Given the description of an element on the screen output the (x, y) to click on. 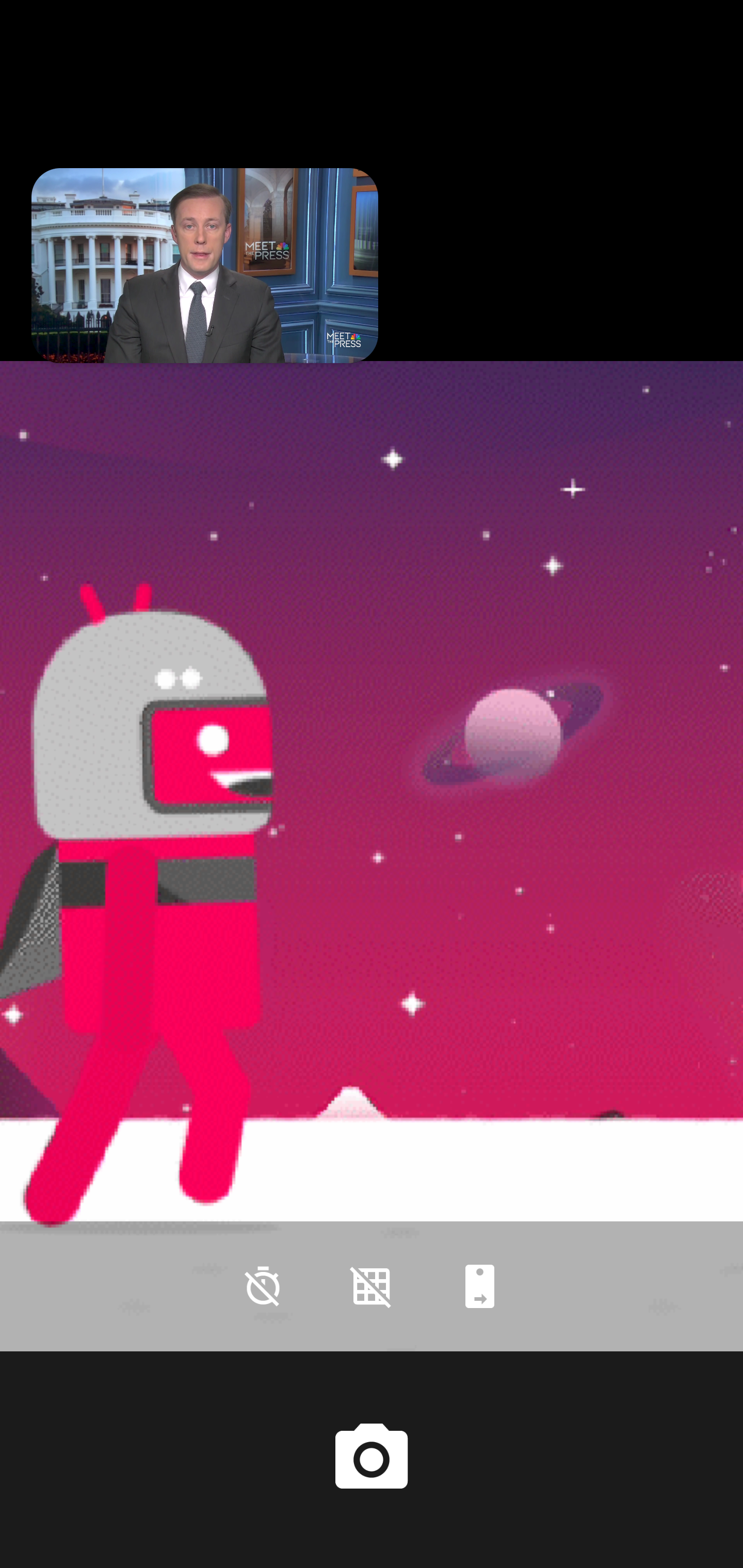
Countdown timer is off (262, 1286)
Grid lines off (371, 1286)
Back camera (479, 1286)
Shutter (371, 1459)
